Given the description of an element on the screen output the (x, y) to click on. 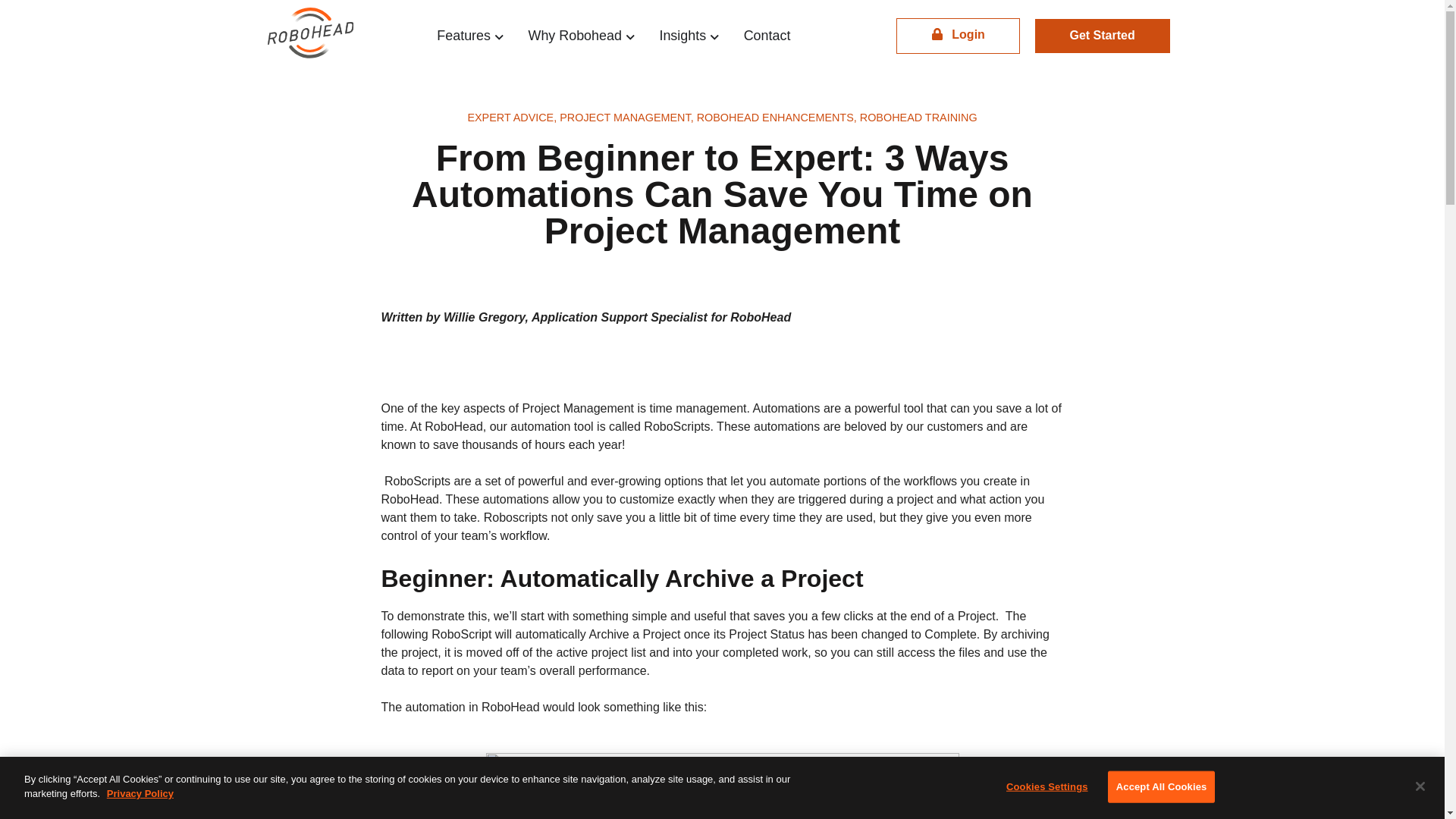
Get Started (1102, 35)
Login (957, 36)
Contact (767, 35)
